Given the description of an element on the screen output the (x, y) to click on. 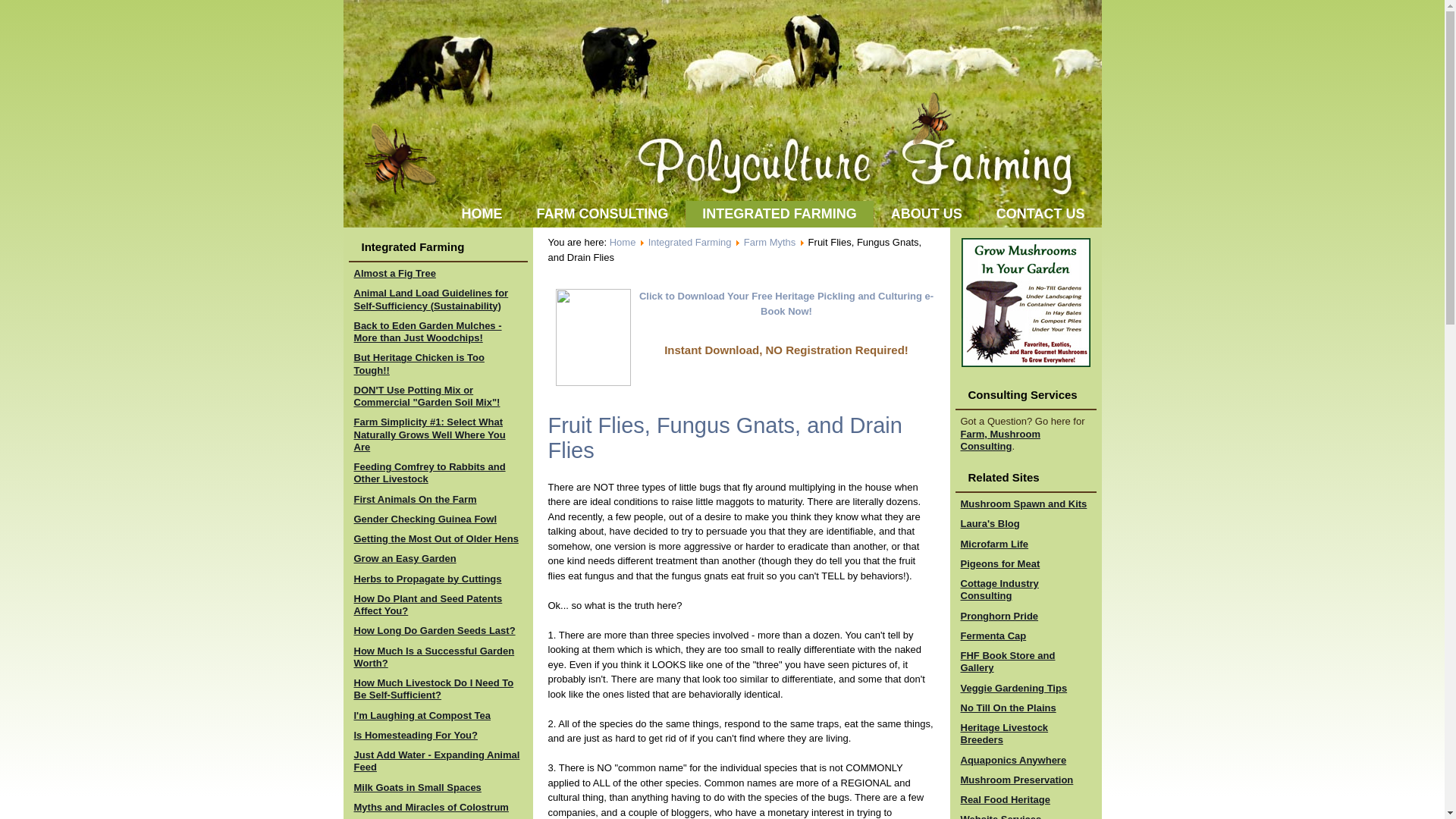
FARM CONSULTING (602, 213)
DON'T Use Potting Mix or Commercial "Garden Soil Mix"! (426, 395)
Milk Goats in Small Spaces (416, 786)
Is Homesteading For You? (415, 735)
I'm Laughing at Compost Tea (421, 715)
Herbs to Propagate by Cuttings (426, 578)
First Animals On the Farm (414, 498)
How Do Plant and Seed Patents Affect You? (427, 604)
Grow an Easy Garden (404, 558)
How Much Is a Successful Garden Worth? (433, 656)
